Given the description of an element on the screen output the (x, y) to click on. 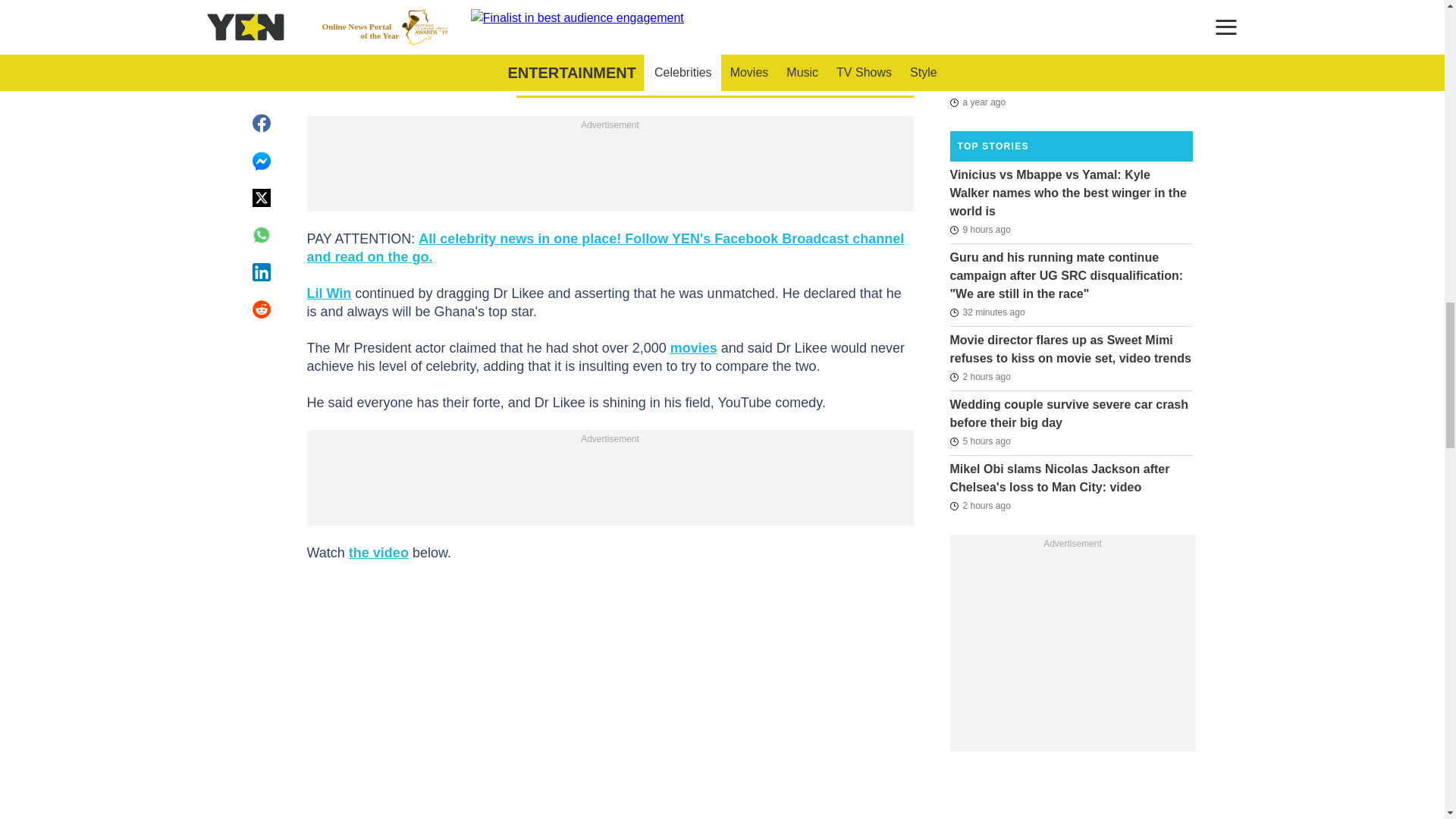
2024-08-19T11:38:56Z (987, 312)
2023-06-22T09:02:57Z (977, 102)
2024-08-19T03:03:36Z (979, 229)
2023-02-15T09:09:16Z (977, 19)
2024-08-19T06:35:05Z (979, 441)
2024-08-19T09:46:55Z (979, 505)
FB Broadcast channel (604, 247)
2024-08-19T09:11:47Z (979, 376)
